Given the description of an element on the screen output the (x, y) to click on. 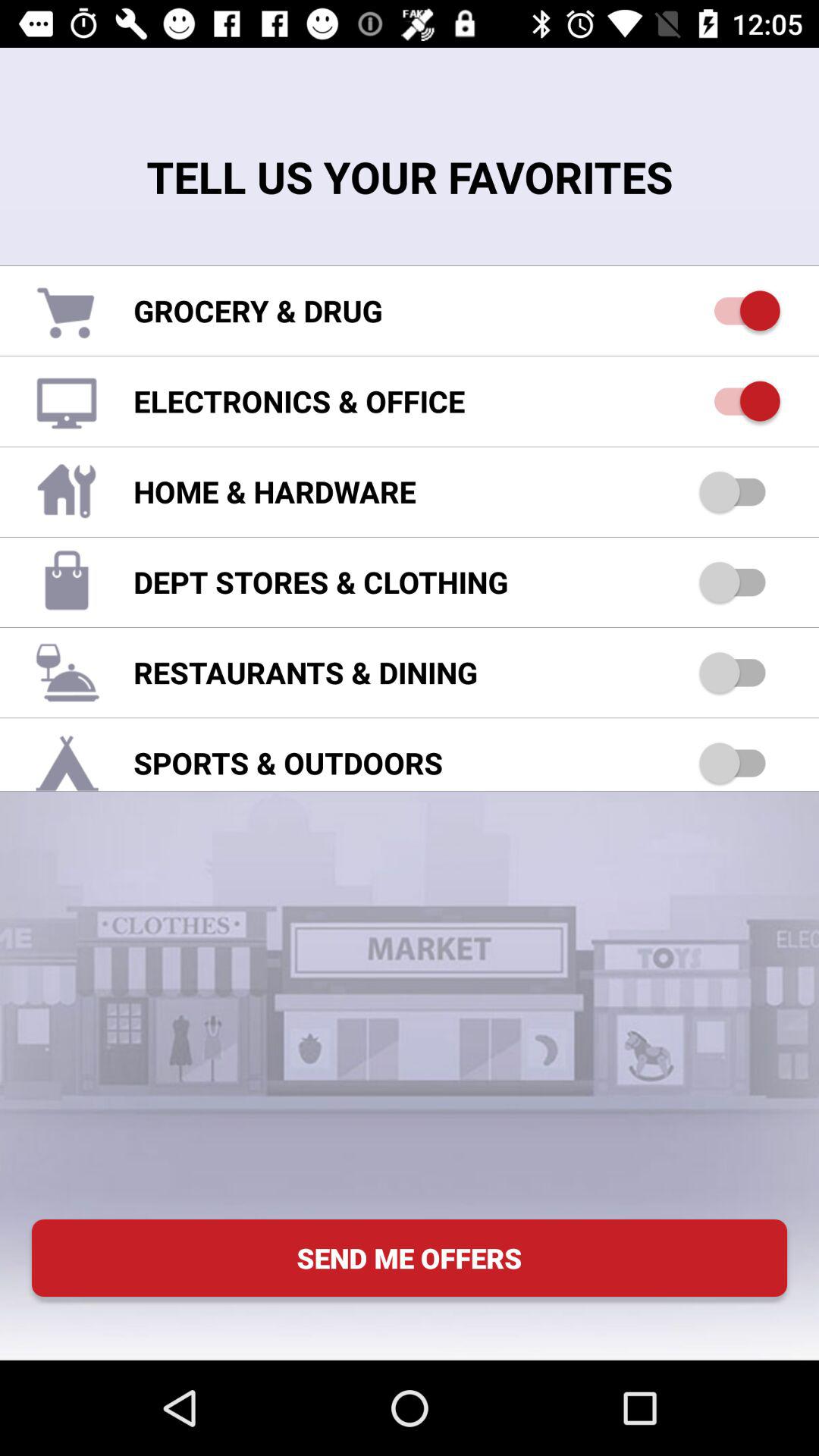
turn off (739, 310)
